Given the description of an element on the screen output the (x, y) to click on. 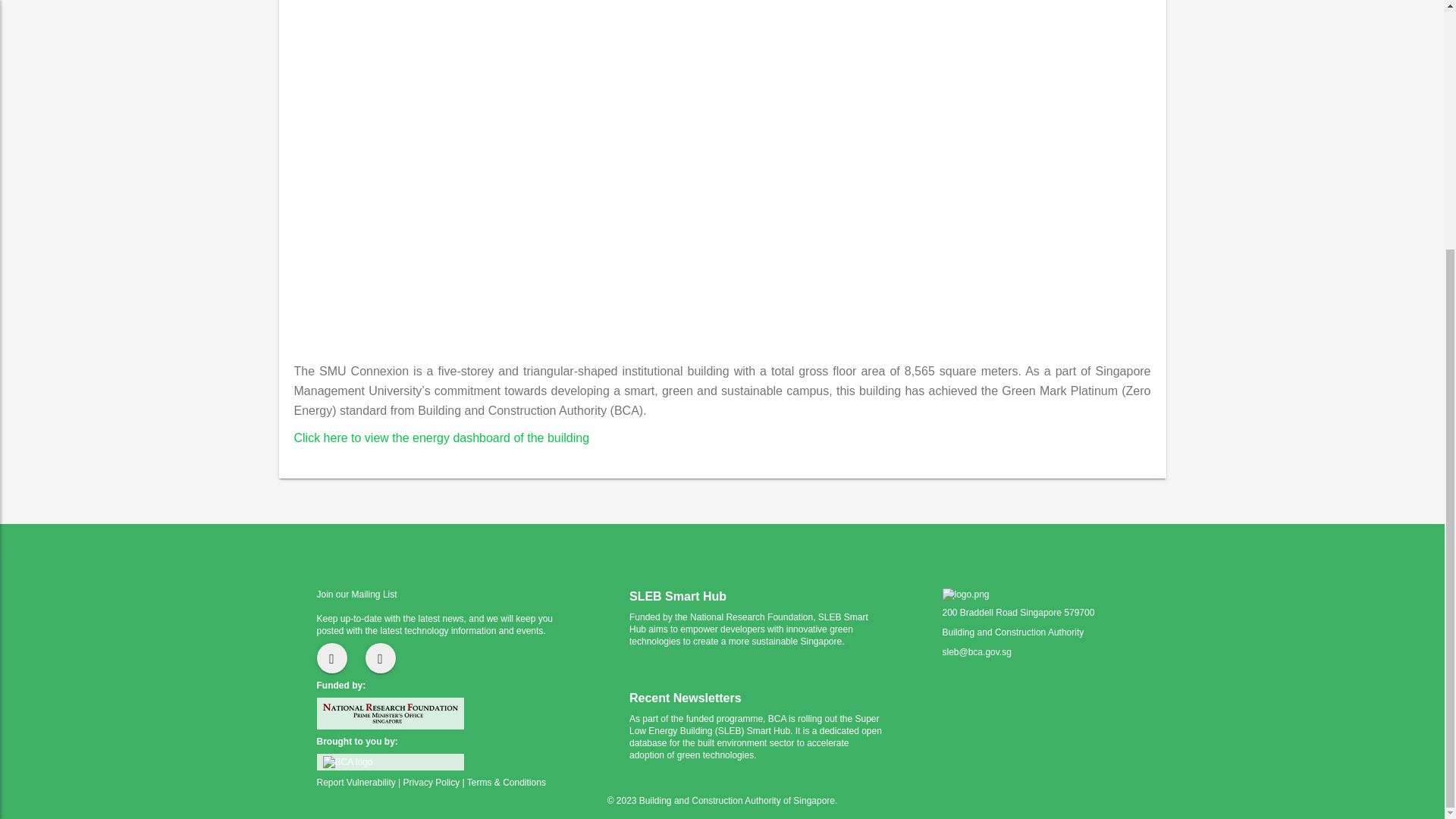
Subscribe (380, 657)
Click here to view the energy dashboard of the building (441, 437)
Feedback (332, 657)
